Given the description of an element on the screen output the (x, y) to click on. 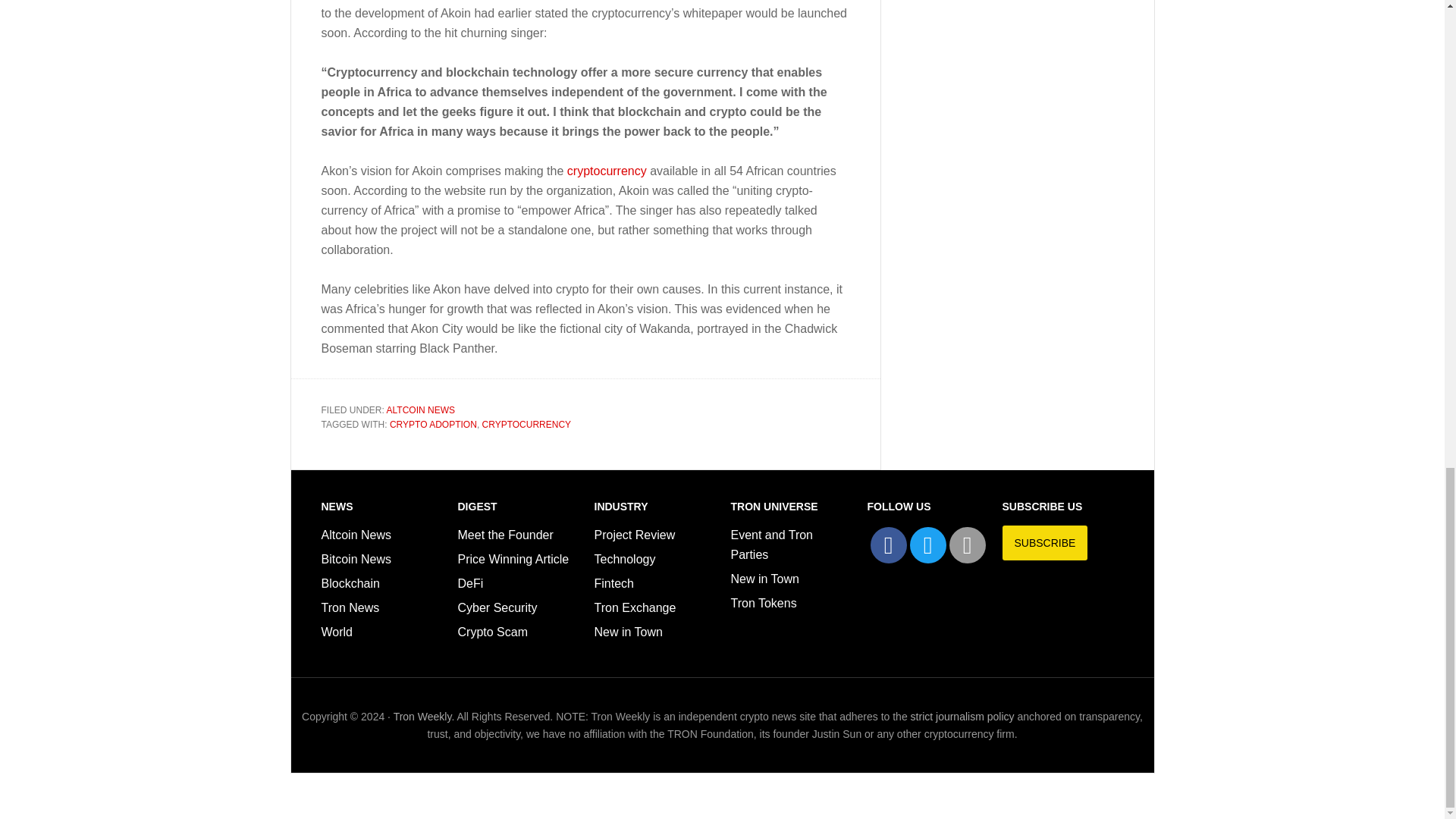
Telegram (967, 545)
Facebook (888, 545)
CRYPTOCURRENCY (526, 424)
CRYPTO ADOPTION (433, 424)
Altcoin News (356, 534)
Twitter (928, 545)
cryptocurrency (604, 170)
ALTCOIN NEWS (420, 409)
